Given the description of an element on the screen output the (x, y) to click on. 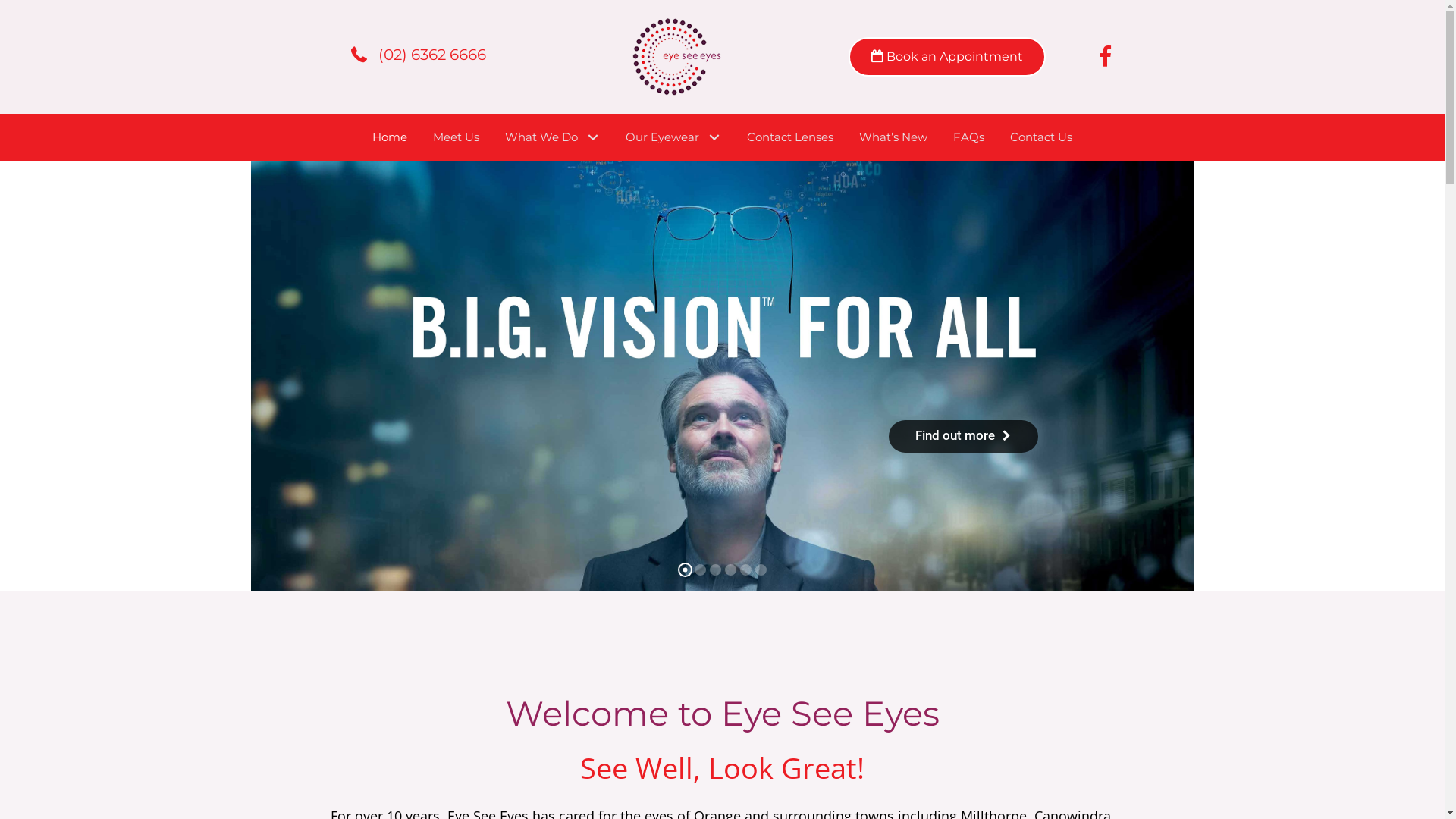
What We Do Element type: text (552, 137)
Contact Lenses Element type: text (789, 137)
Our Eyewear Element type: text (673, 137)
FAQs Element type: text (968, 137)
Find out more Element type: text (963, 436)
Home Element type: text (389, 137)
Meet Us Element type: text (455, 137)
Contact Us Element type: text (1040, 137)
